Given the description of an element on the screen output the (x, y) to click on. 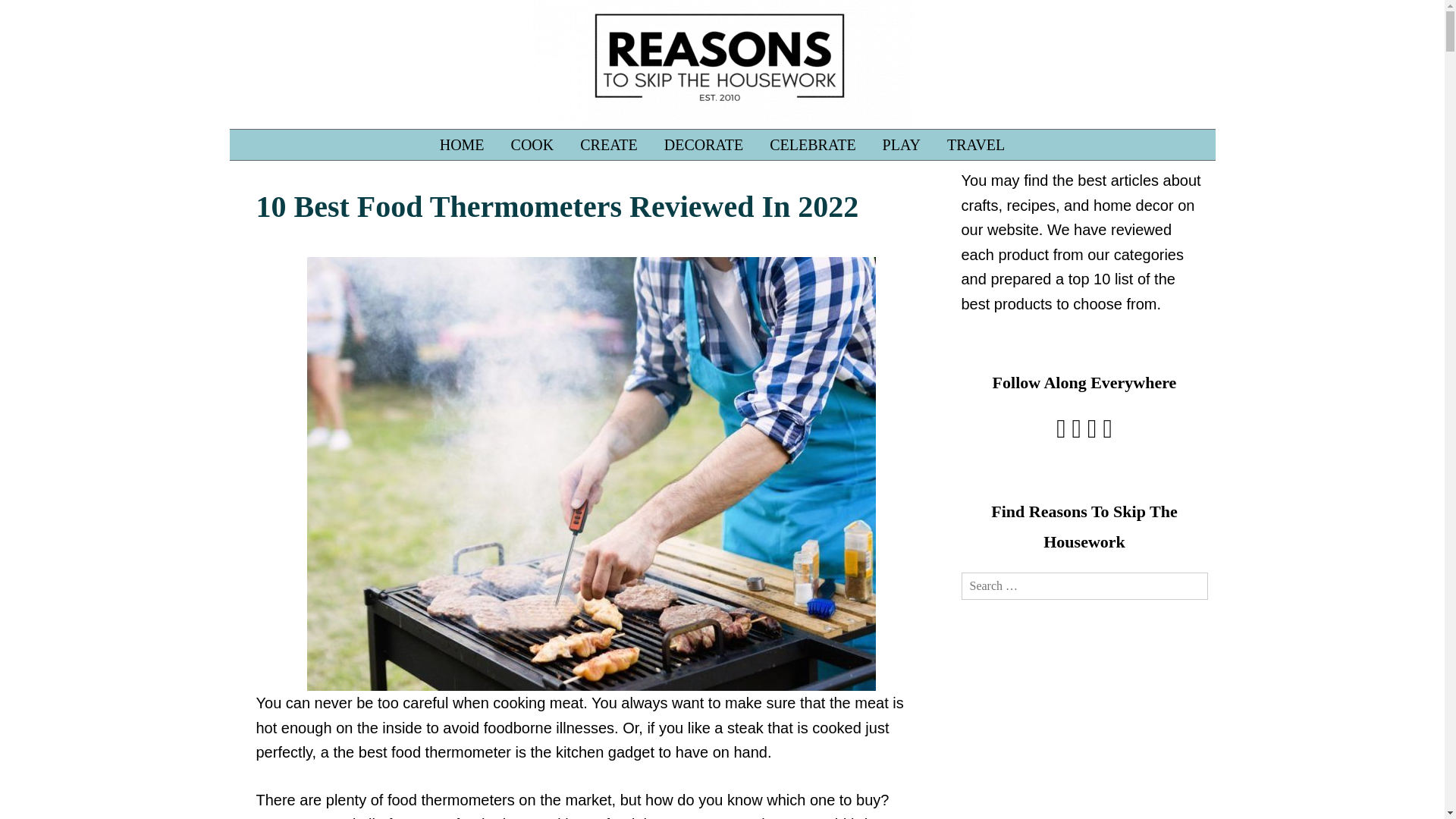
COOK (532, 144)
PLAY (900, 144)
DECORATE (703, 144)
SKIP TO CONTENT (266, 136)
HOME (462, 144)
CELEBRATE (812, 144)
TRAVEL (976, 144)
CREATE (609, 144)
